Given the description of an element on the screen output the (x, y) to click on. 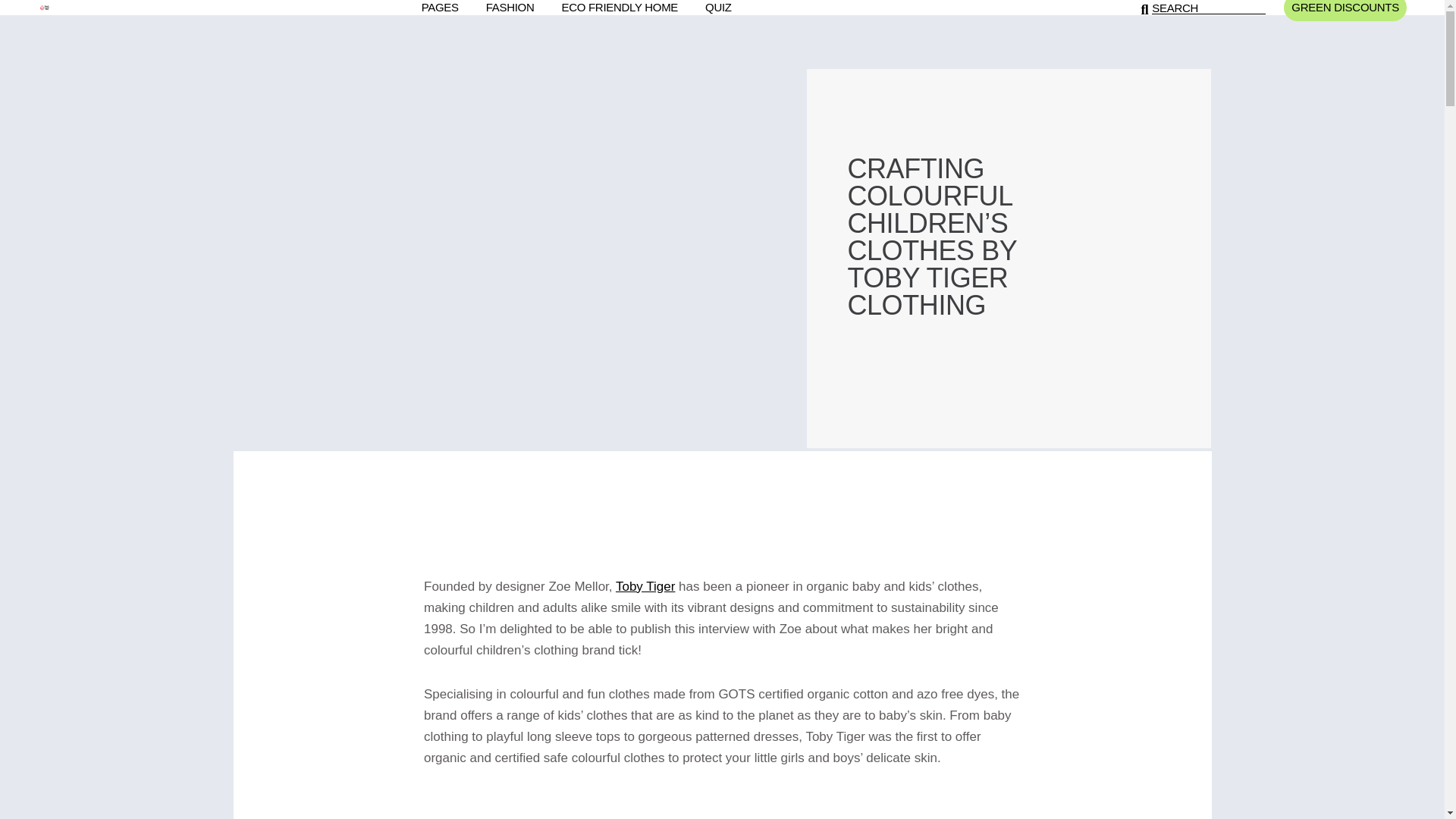
PAGES (440, 7)
QUIZ (718, 7)
FASHION (510, 7)
ECO FRIENDLY HOME (620, 7)
GREEN DISCOUNTS (1345, 6)
